Given the description of an element on the screen output the (x, y) to click on. 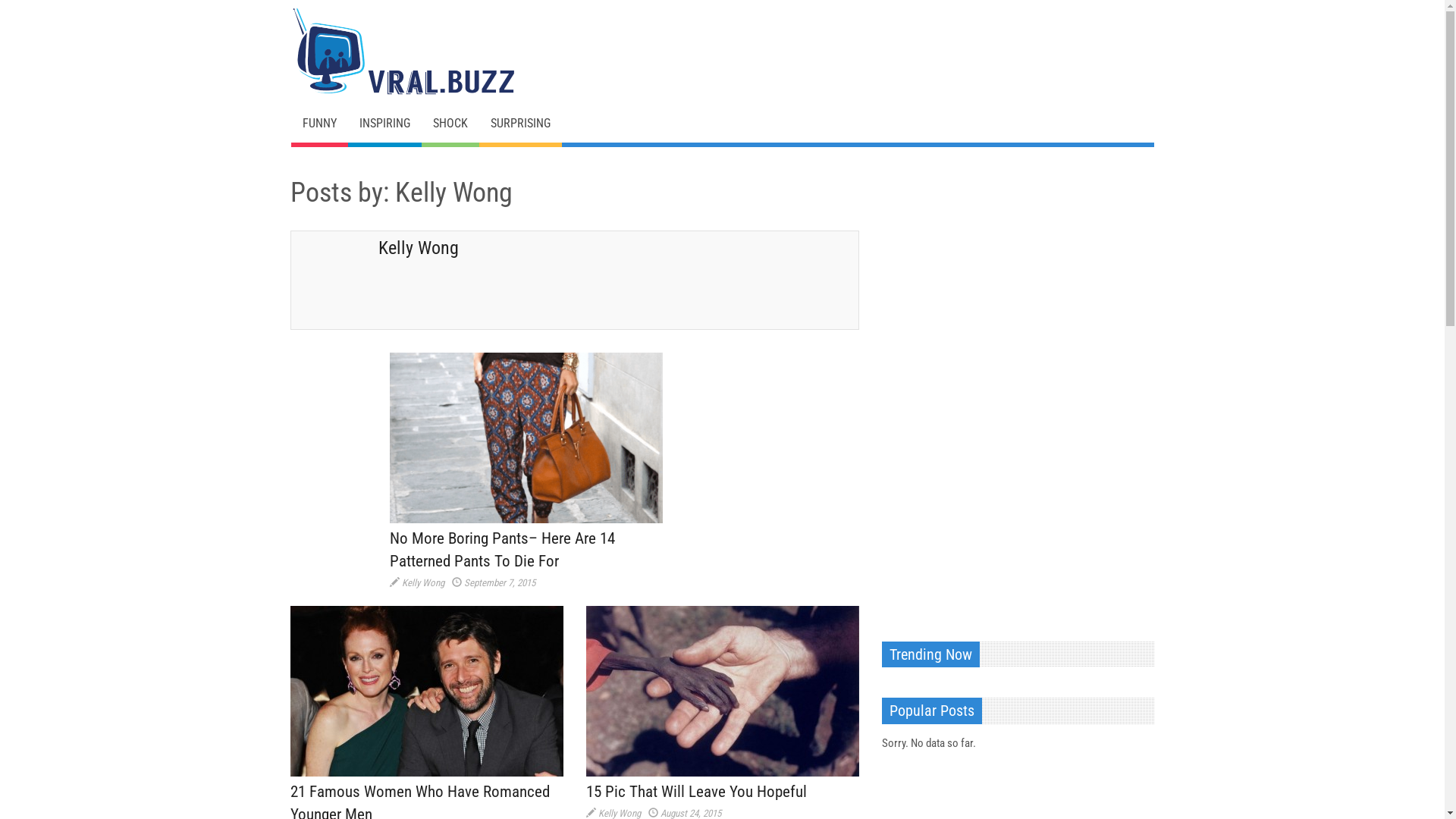
SURPRISING Element type: text (520, 123)
Advertisement Element type: hover (994, 389)
INSPIRING Element type: text (383, 123)
SHOCK Element type: text (450, 123)
Kelly Wong Element type: text (422, 582)
FUNNY Element type: text (319, 123)
